Given the description of an element on the screen output the (x, y) to click on. 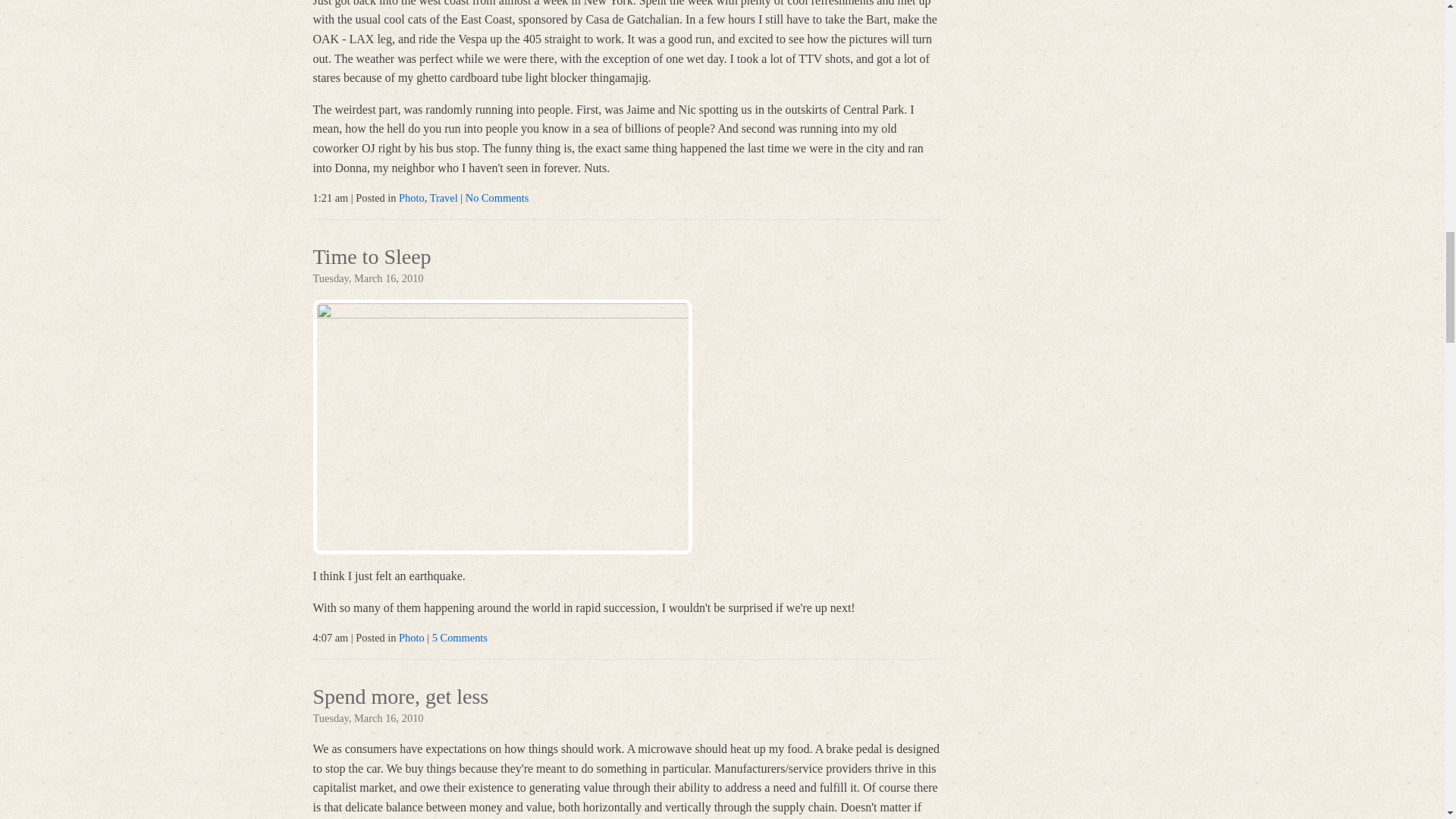
5 Comments (459, 637)
No Comments (497, 197)
Time to Sleep (371, 257)
Photo (411, 637)
Spend more, get less (400, 697)
Z. (502, 426)
Photo (411, 197)
Travel (443, 197)
